Given the description of an element on the screen output the (x, y) to click on. 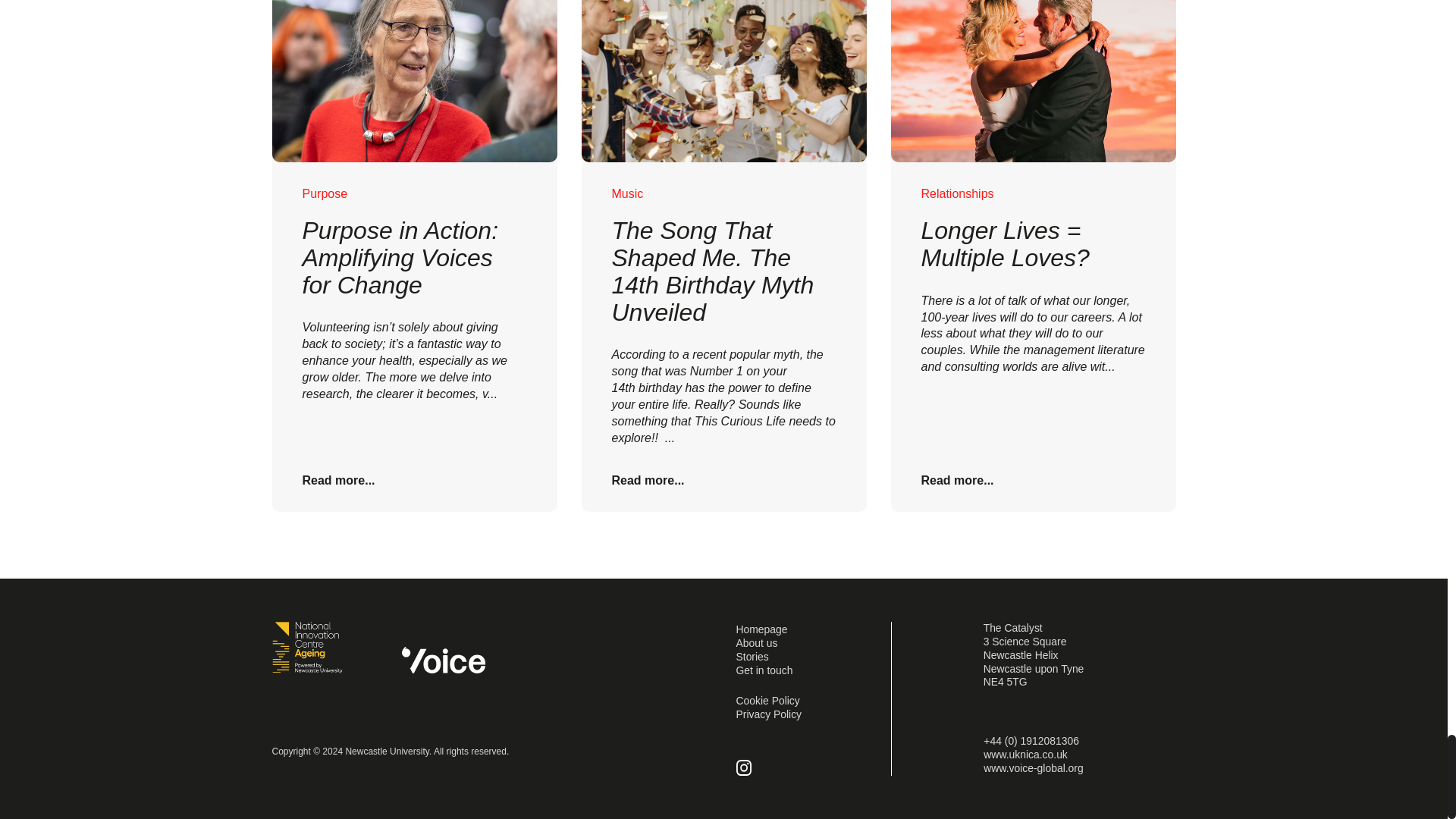
Privacy Policy (768, 714)
Cookie Policy (767, 700)
www.uknica.co.uk (1025, 754)
Get in touch (763, 670)
Read more... (956, 480)
The Song That Shaped Me. The 14th Birthday Myth Unveiled (712, 271)
Homepage (761, 629)
Stories (751, 656)
www.voice-global.org (1033, 767)
About us (756, 643)
Read more... (337, 480)
Read more... (647, 480)
Purpose in Action: Amplifying Voices for Change (399, 257)
